Given the description of an element on the screen output the (x, y) to click on. 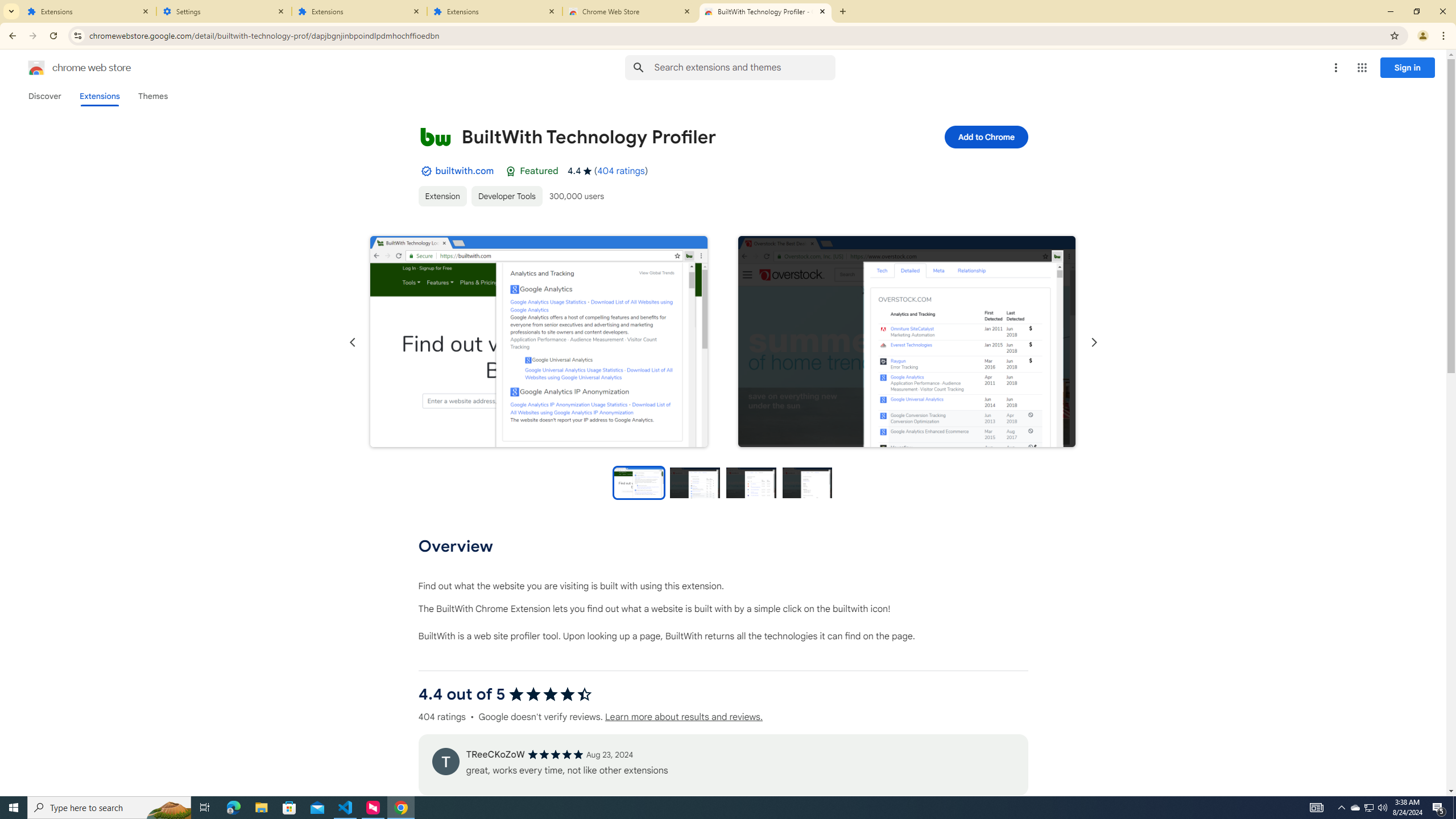
builtwith.com (464, 170)
Next slide (1093, 342)
By Established Publisher Badge (425, 170)
Item logo image for BuiltWith Technology Profiler (434, 136)
Item media 2 screenshot (906, 342)
Learn more about results and reviews. (683, 716)
More options menu (1335, 67)
Preview slide 1 (637, 482)
404 ratings (620, 170)
